Given the description of an element on the screen output the (x, y) to click on. 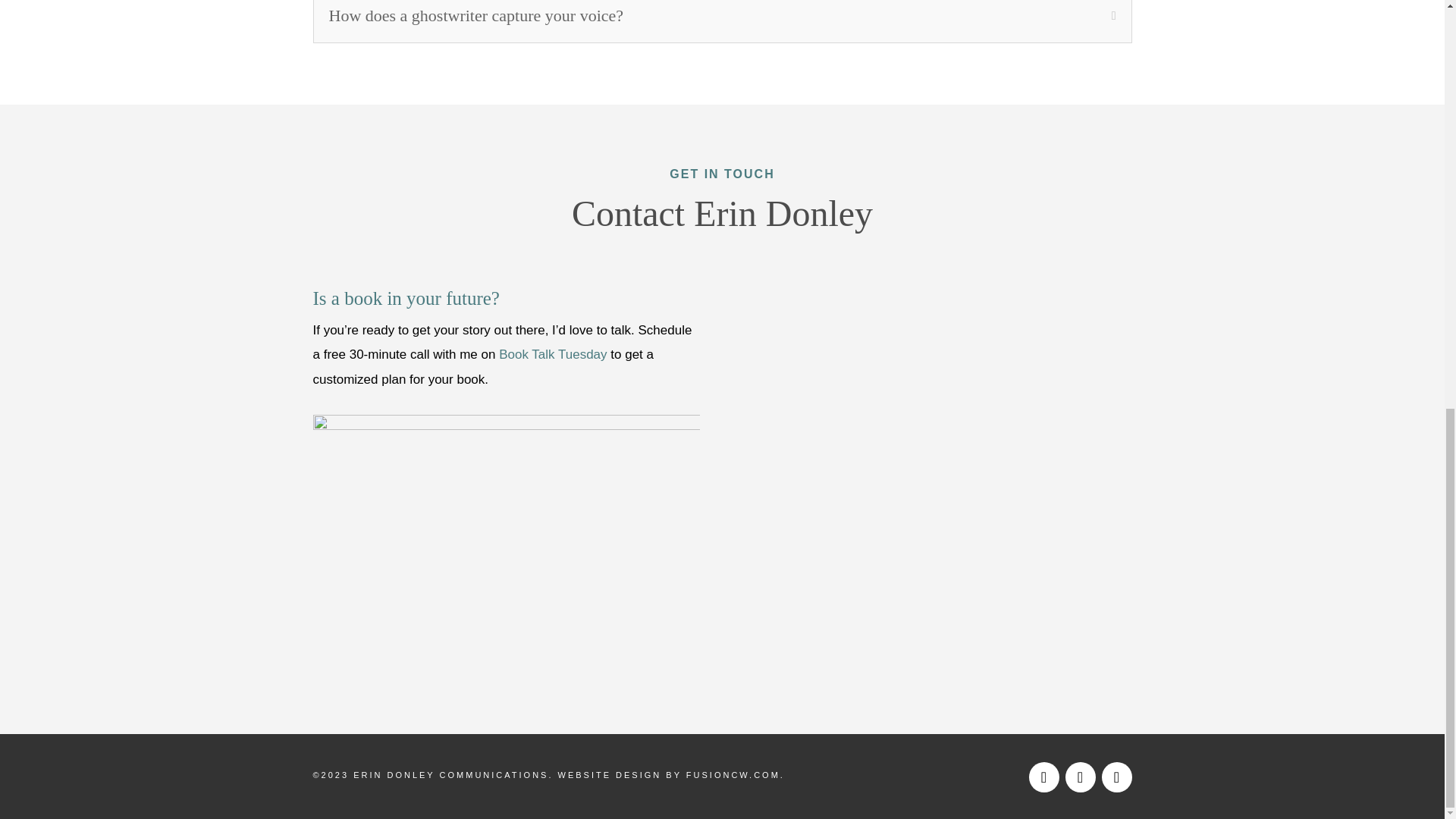
Book Talk Tuesday (553, 354)
ECDBlueHands (505, 543)
Follow on Instagram (1079, 777)
Follow on LinkedIn (1115, 777)
Follow on Facebook (1042, 777)
FUSIONCW.COM (732, 774)
